Given the description of an element on the screen output the (x, y) to click on. 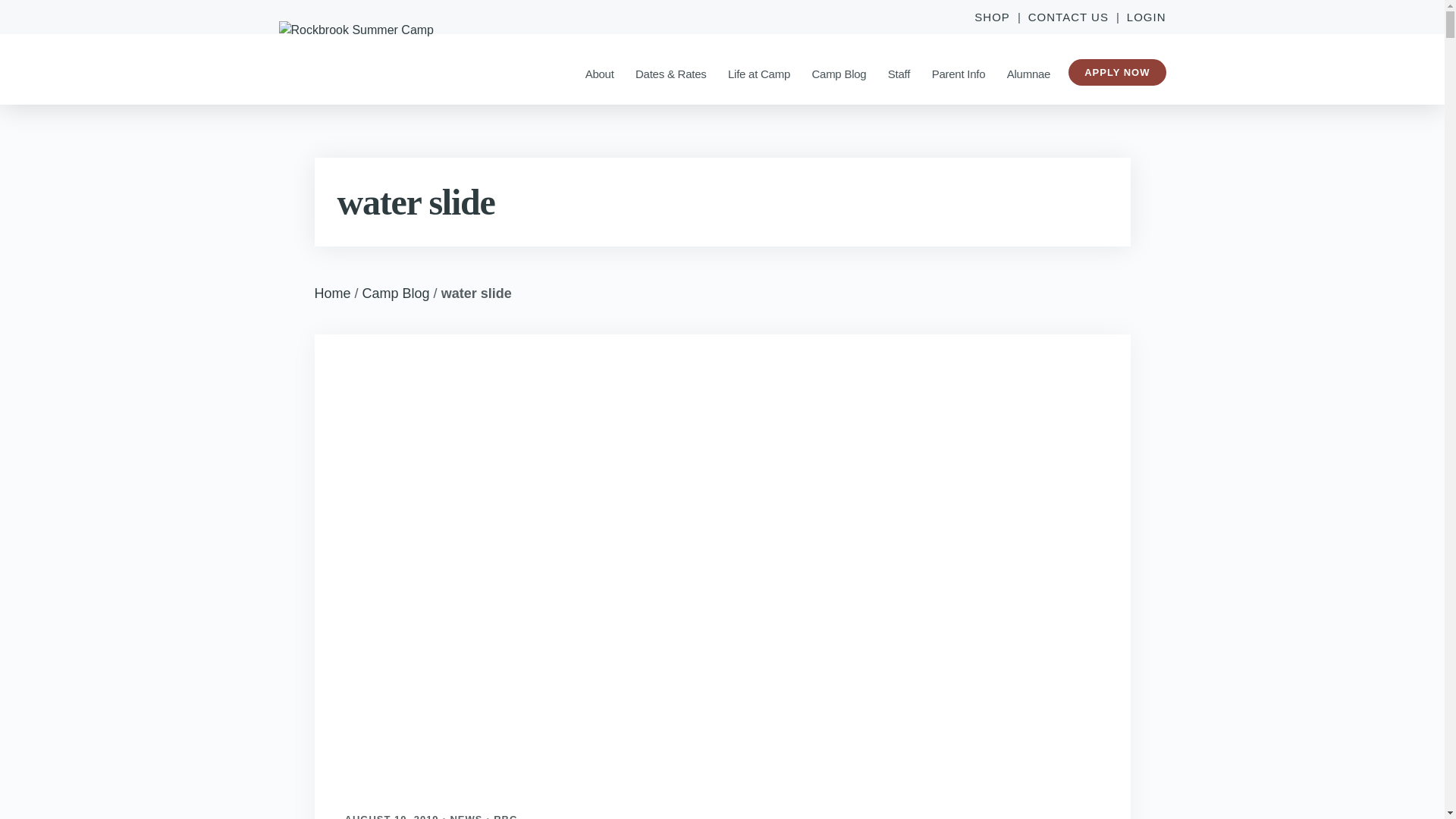
SHOP (995, 17)
Life at Camp (759, 71)
About (599, 71)
CONTACT US (1068, 17)
LOGIN (1142, 17)
